Given the description of an element on the screen output the (x, y) to click on. 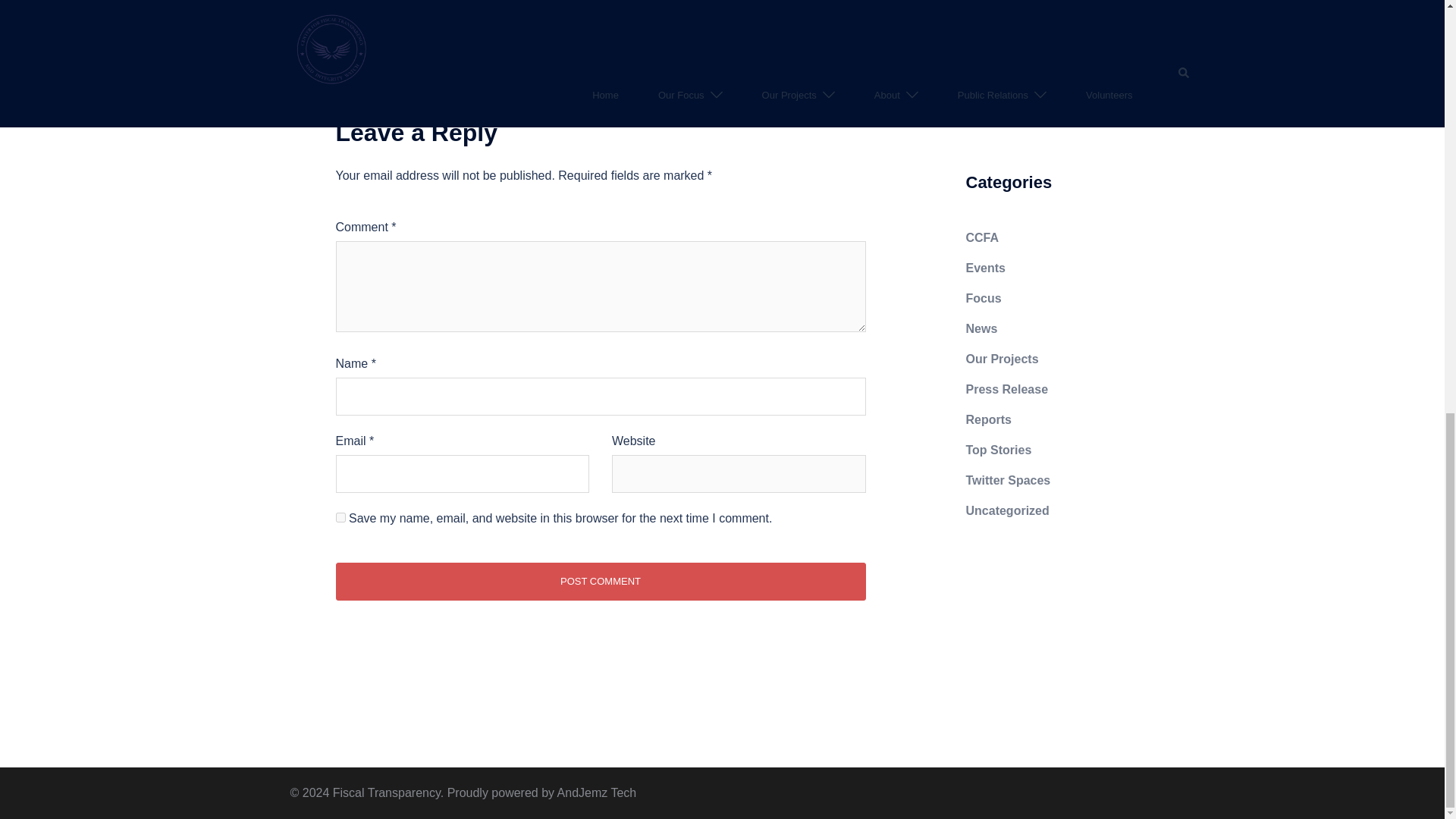
yes (339, 517)
Post Comment (599, 581)
